Given the description of an element on the screen output the (x, y) to click on. 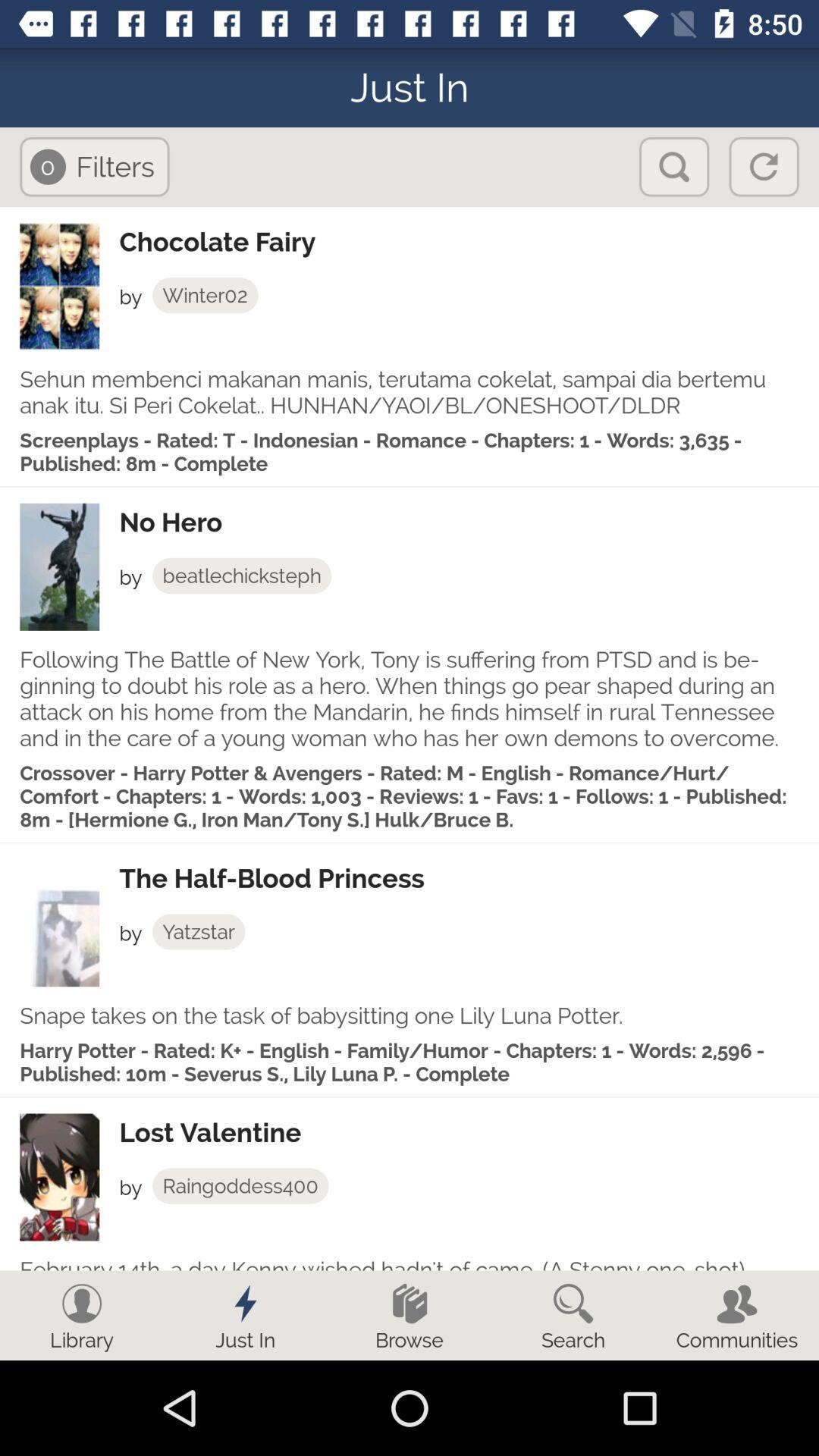
tap yatzstar app (198, 931)
